Given the description of an element on the screen output the (x, y) to click on. 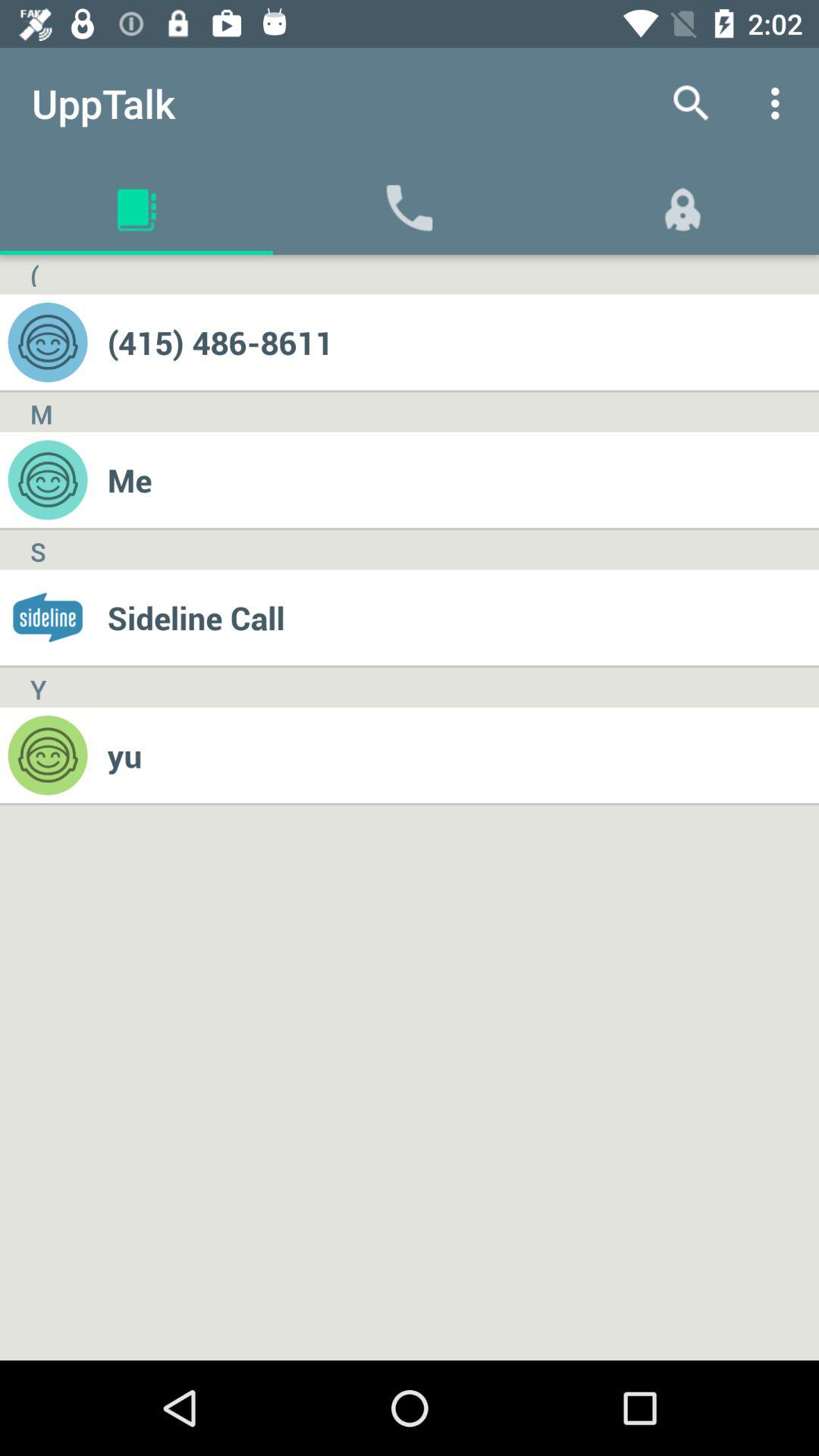
turn on item above yu icon (463, 617)
